Given the description of an element on the screen output the (x, y) to click on. 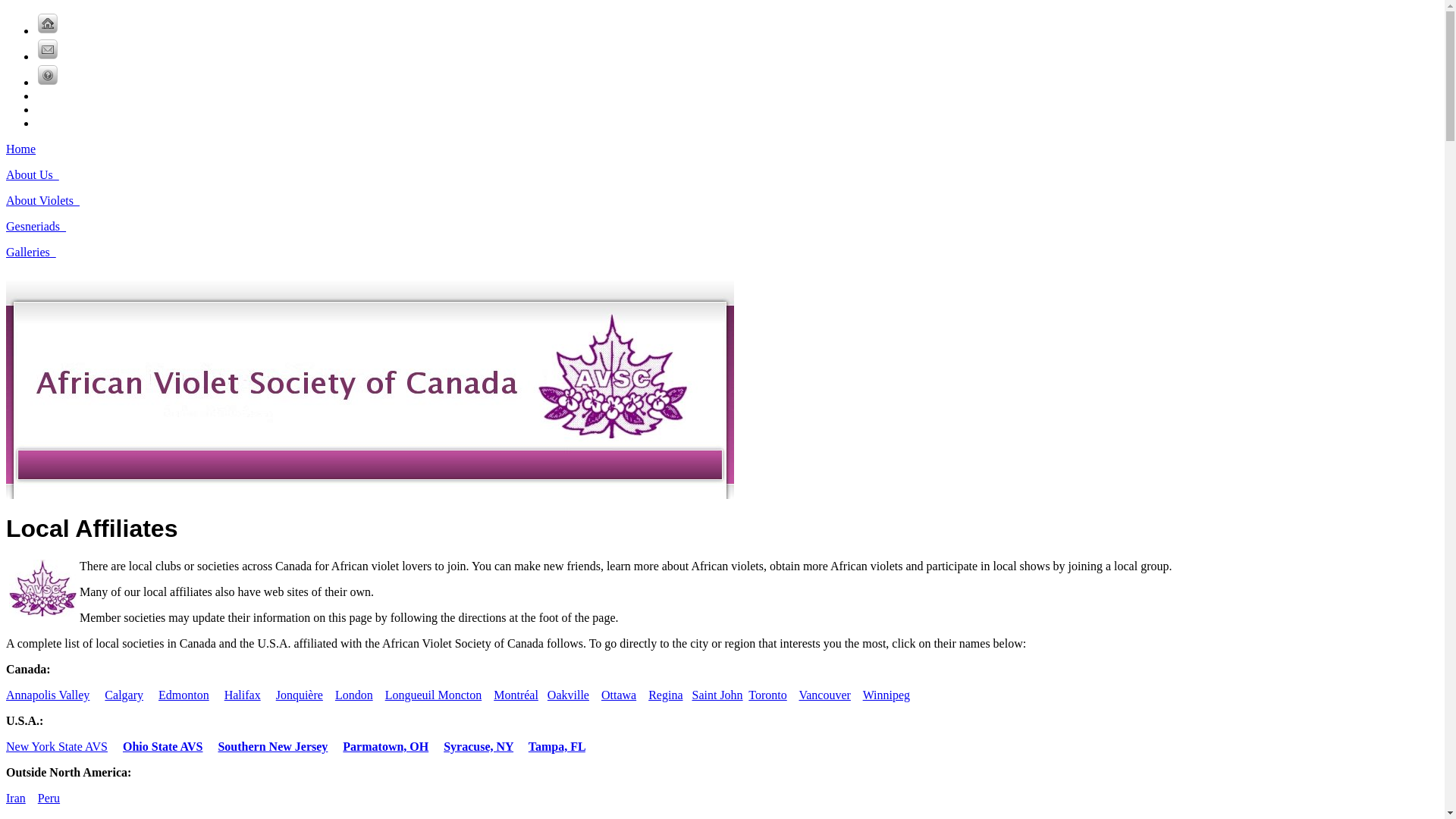
Regina Element type: text (665, 694)
Gesneriads  Element type: text (40, 225)
Syracuse, NY Element type: text (478, 746)
Tampa, FL Element type: text (556, 746)
Longueuil Moncton Element type: text (433, 694)
Iran Element type: text (15, 797)
New York State AVS Element type: text (56, 746)
Ottawa Element type: text (618, 694)
Vancouver Element type: text (824, 694)
Ohio State AVS Element type: text (162, 746)
Saint John Element type: text (716, 694)
Calgary Element type: text (123, 694)
Home Element type: hover (47, 23)
Contact Element type: hover (47, 48)
FAQs Element type: hover (47, 74)
Galleries  Element type: text (35, 251)
London Element type: text (354, 694)
Edmonton Element type: text (183, 694)
Parmatown, OH Element type: text (385, 746)
Toronto Element type: text (767, 694)
Oakville Element type: text (568, 694)
About Us  Element type: text (37, 174)
Winnipeg Element type: text (886, 694)
Home Element type: text (20, 148)
Halifax Element type: text (242, 694)
Southern New Jersey Element type: text (272, 746)
Peru Element type: text (48, 797)
About Violets  Element type: text (47, 200)
Annapolis Valley Element type: text (47, 694)
